Given the description of an element on the screen output the (x, y) to click on. 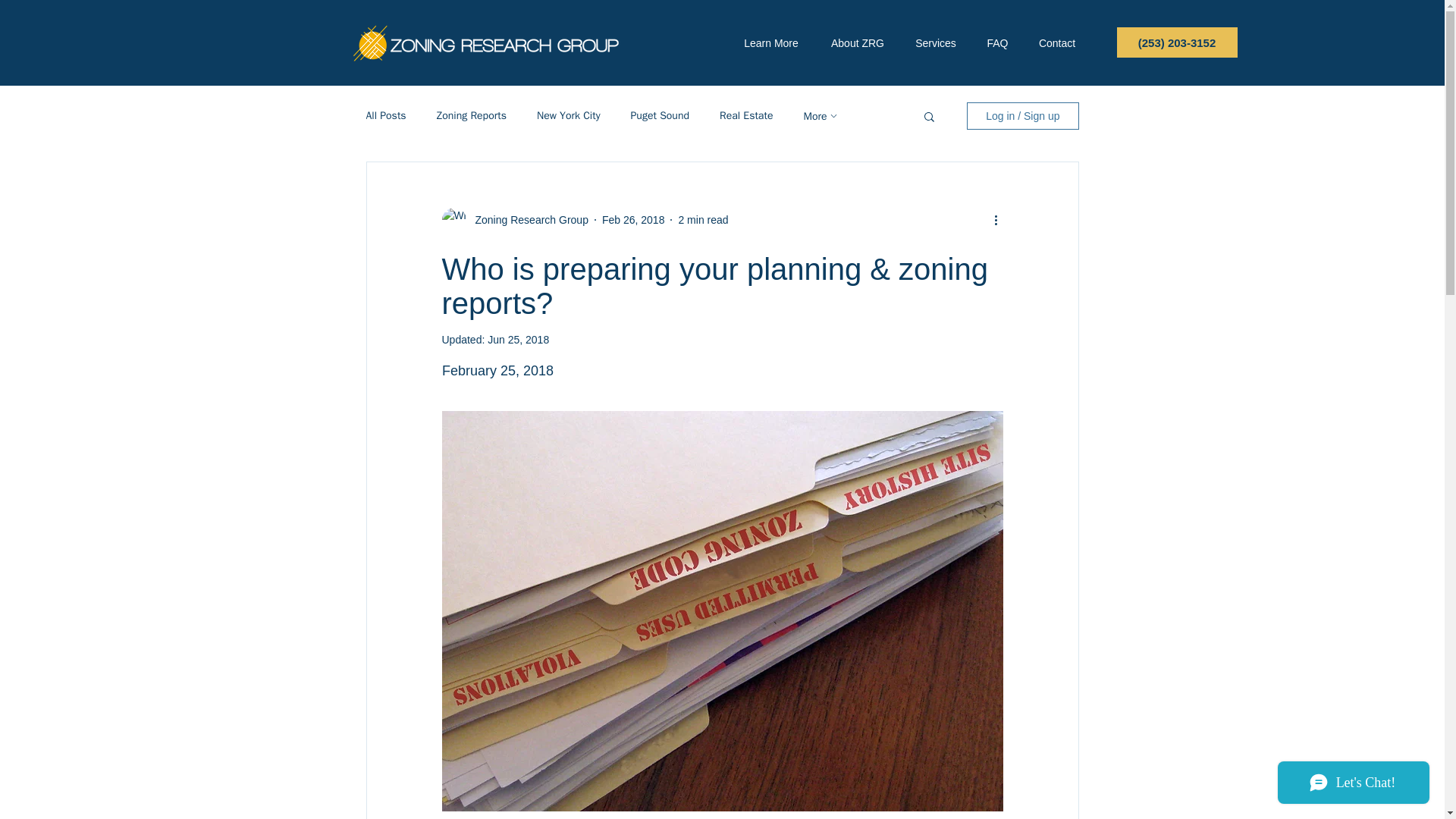
2 min read (703, 219)
Jun 25, 2018 (517, 339)
Puget Sound (659, 115)
Services (935, 43)
Zoning Research Group (526, 220)
Contact (1056, 43)
Real Estate (746, 115)
Zoning Reports (471, 115)
New York City (568, 115)
About ZRG (857, 43)
All Posts (385, 115)
FAQ (997, 43)
Feb 26, 2018 (633, 219)
